Given the description of an element on the screen output the (x, y) to click on. 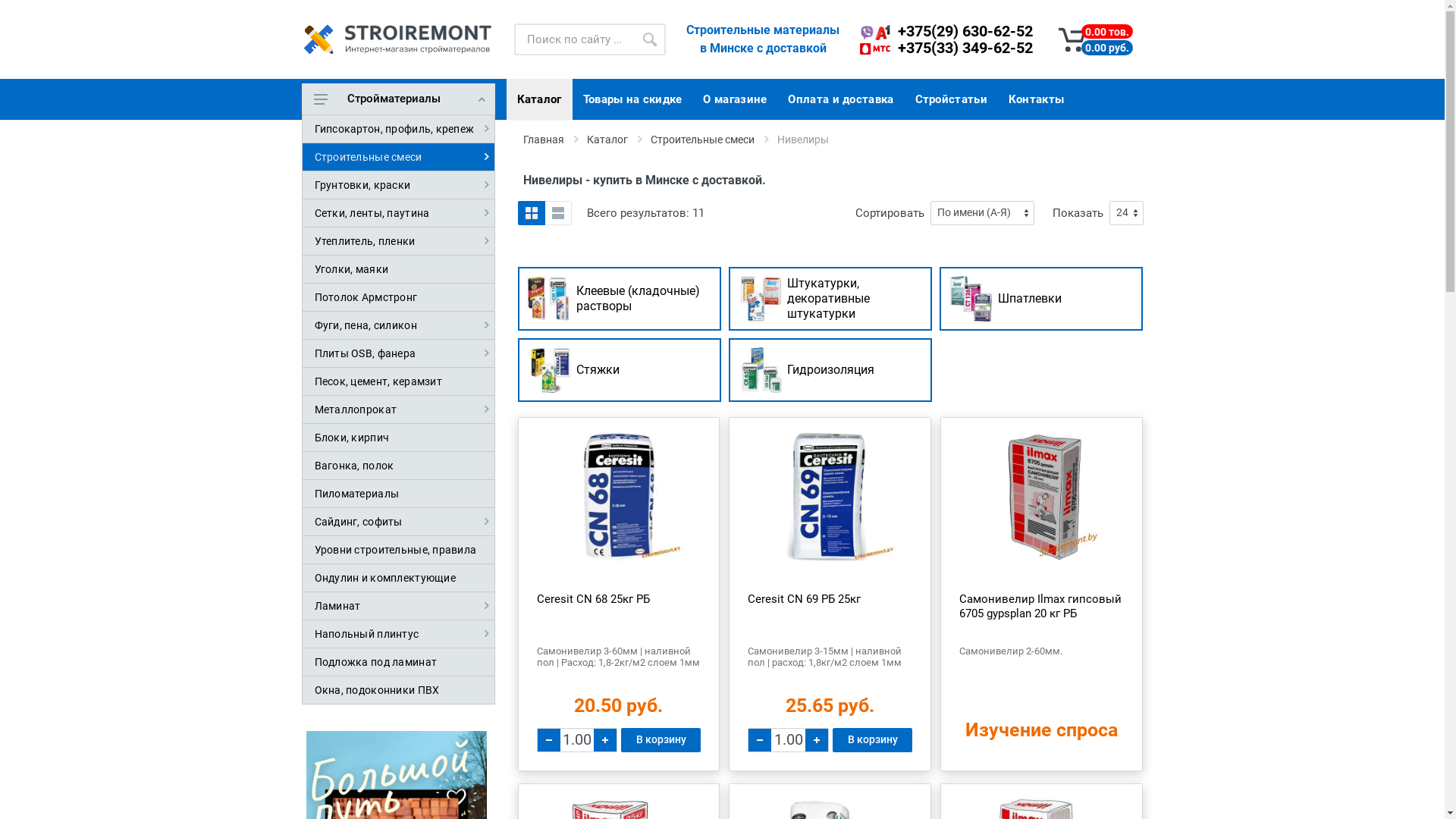
+375(33) 349-62-52 Element type: text (964, 47)
cart/add Element type: text (101, 12)
List Element type: hover (557, 212)
+375(29) 630-62-52 Element type: text (964, 30)
Grid Element type: hover (530, 212)
